Given the description of an element on the screen output the (x, y) to click on. 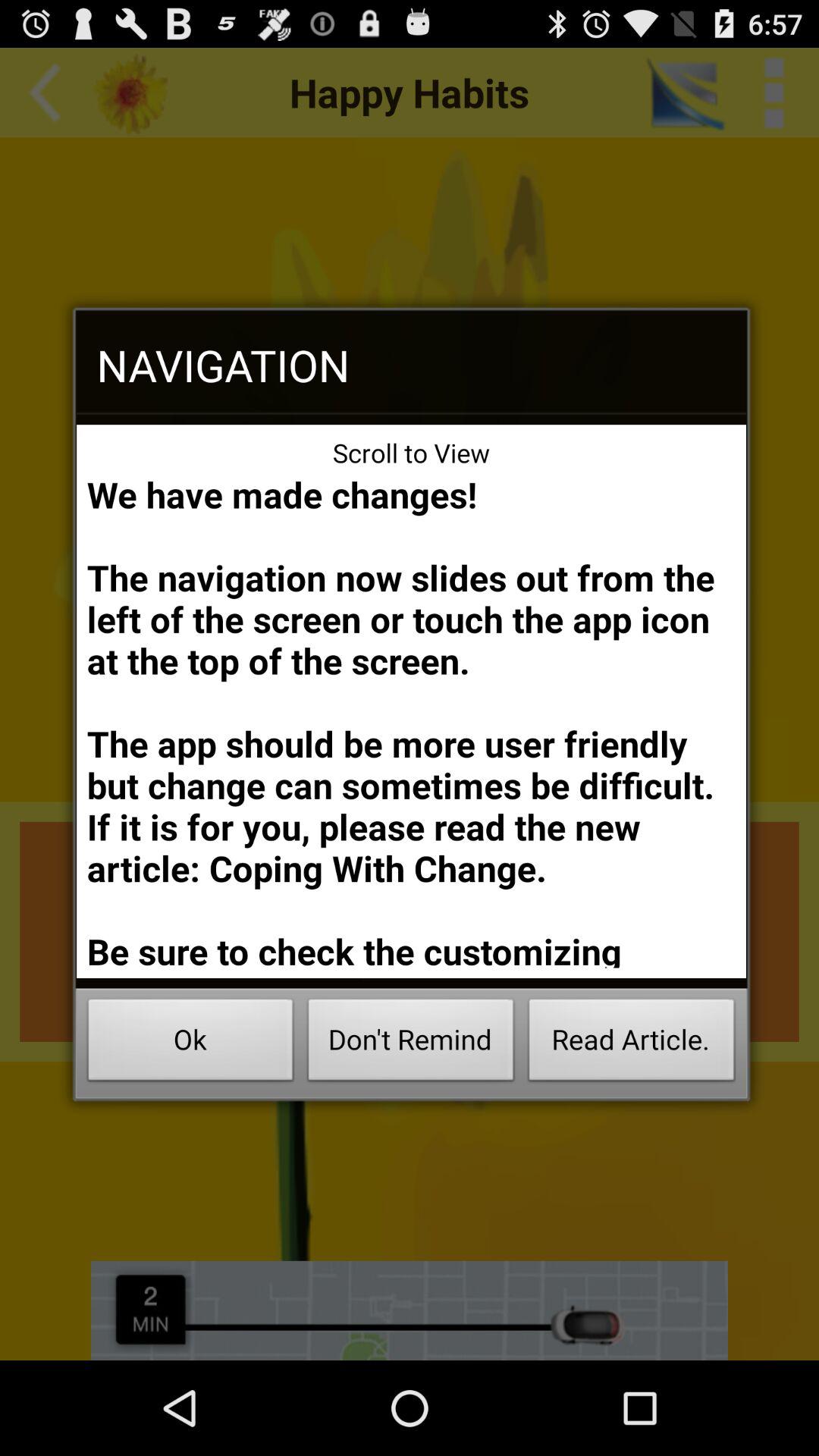
press button next to the don't remind (631, 1044)
